Given the description of an element on the screen output the (x, y) to click on. 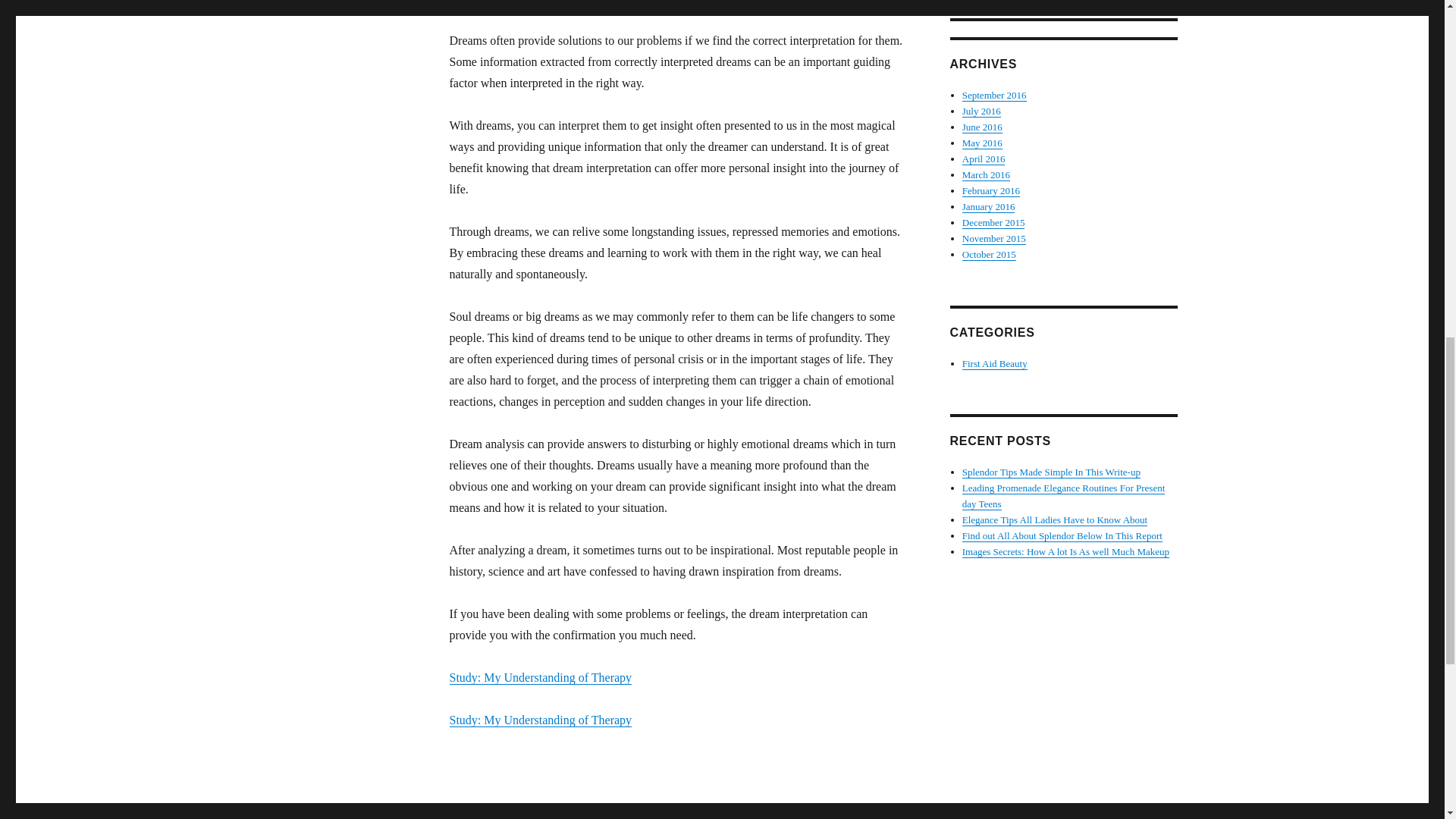
September 2016 (994, 94)
April 2016 (984, 158)
July 2016 (981, 111)
May 2016 (982, 142)
Study: My Understanding of Therapy (539, 719)
June 2016 (982, 126)
January 2016 (988, 206)
October 2015 (989, 254)
December 2015 (993, 222)
Images Secrets: How A lot Is As well Much Makeup (1065, 551)
February 2016 (991, 190)
Leading Promenade Elegance Routines For Present day Teens (1064, 495)
Study: My Understanding of Therapy (539, 676)
First Aid Beauty (994, 363)
Splendor Tips Made Simple In This Write-up (1051, 471)
